Given the description of an element on the screen output the (x, y) to click on. 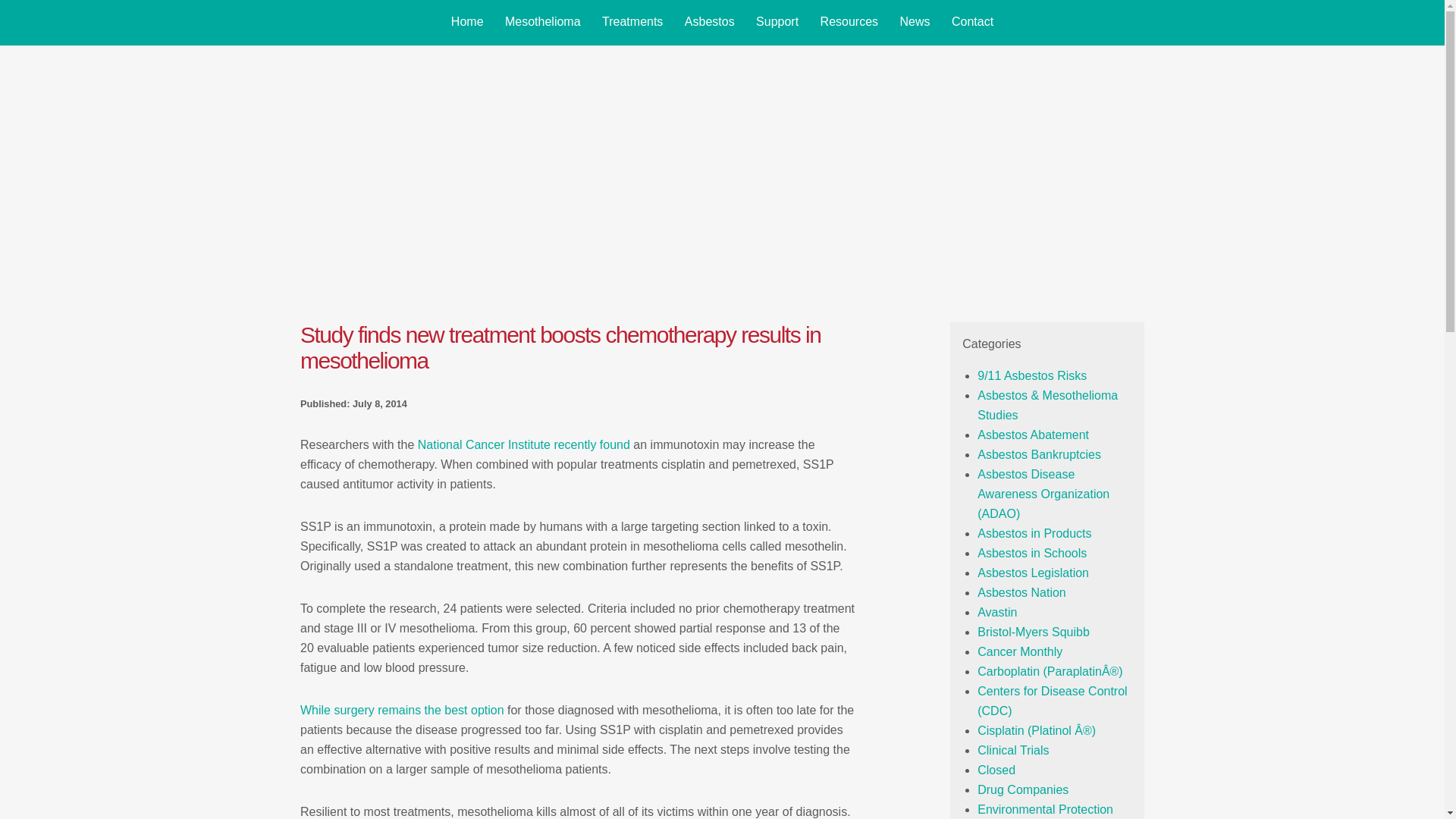
Home (467, 22)
Research shows both mesothelioma surgeries produce results (401, 709)
Resources (848, 22)
Support (777, 22)
Mesothelioma (542, 22)
Asbestos (709, 22)
News (915, 22)
Treatments (631, 22)
